Given the description of an element on the screen output the (x, y) to click on. 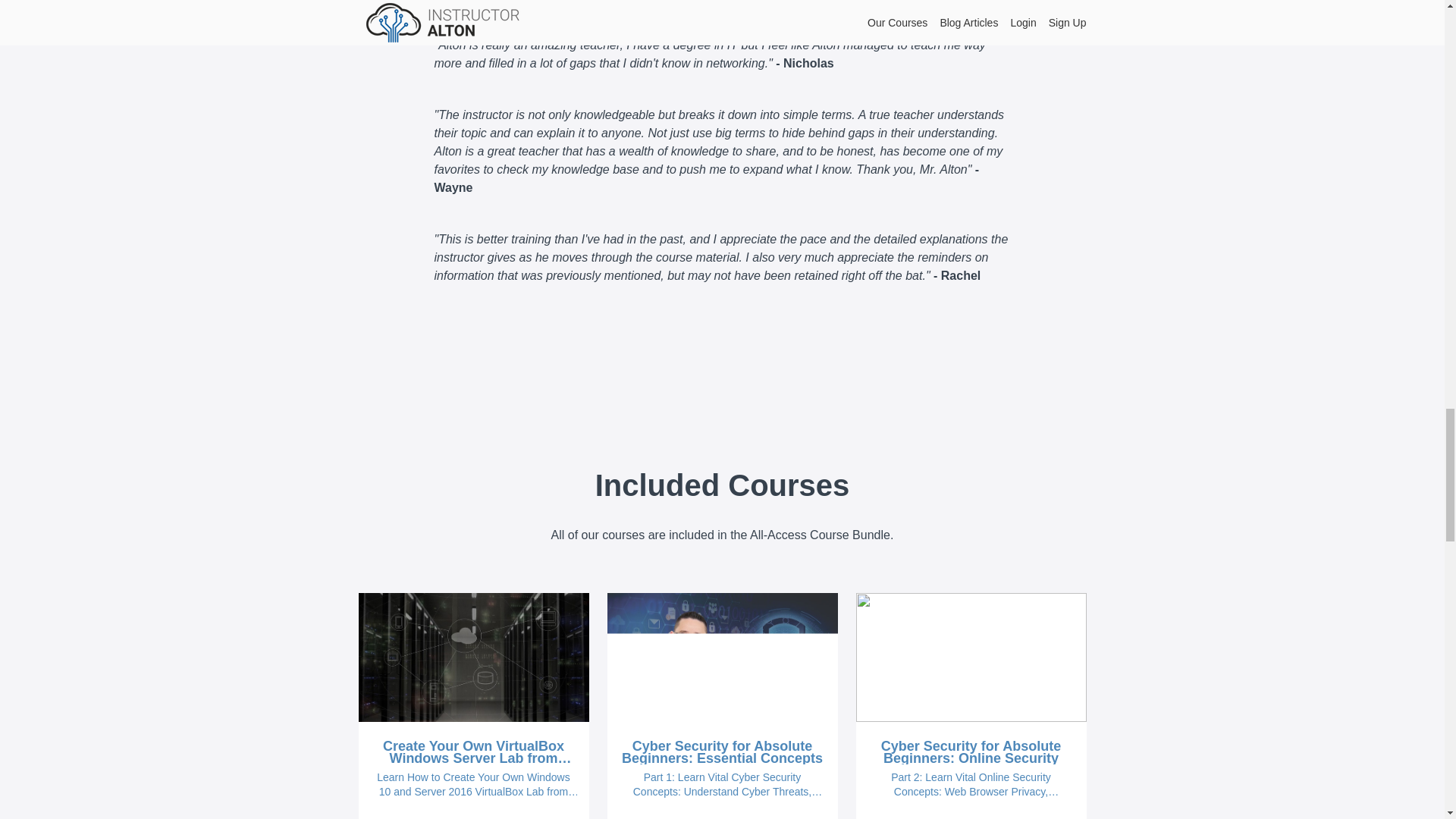
Cyber Security for Absolute Beginners: Essential Concepts (721, 752)
Create Your Own VirtualBox Windows Server Lab from Scratch! (472, 752)
Cyber Security for Absolute Beginners: Online Security (970, 752)
